Given the description of an element on the screen output the (x, y) to click on. 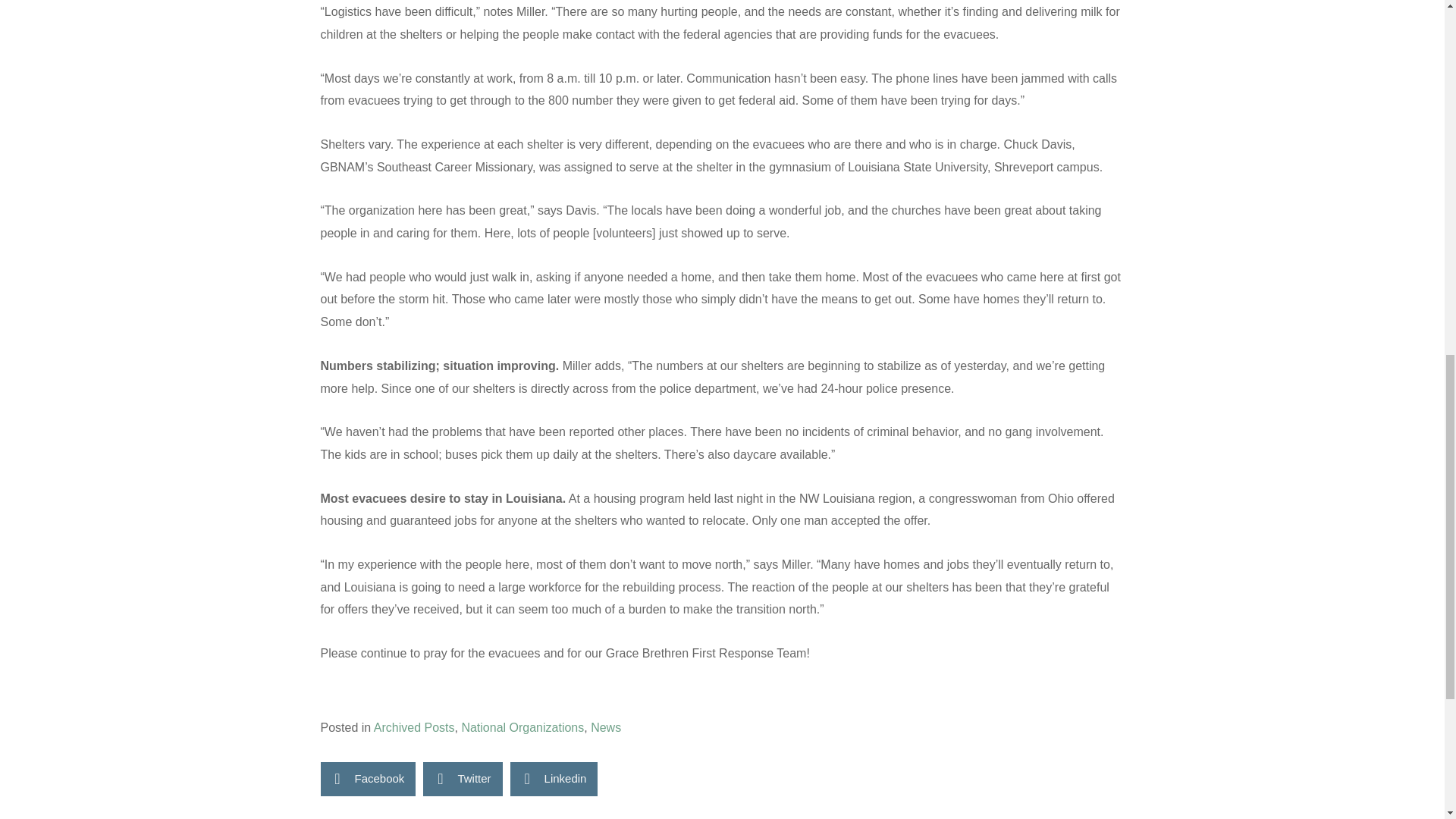
Archived Posts (414, 727)
Facebook (367, 779)
Linkedin (554, 779)
Twitter (462, 779)
National Organizations (522, 727)
News (606, 727)
